Given the description of an element on the screen output the (x, y) to click on. 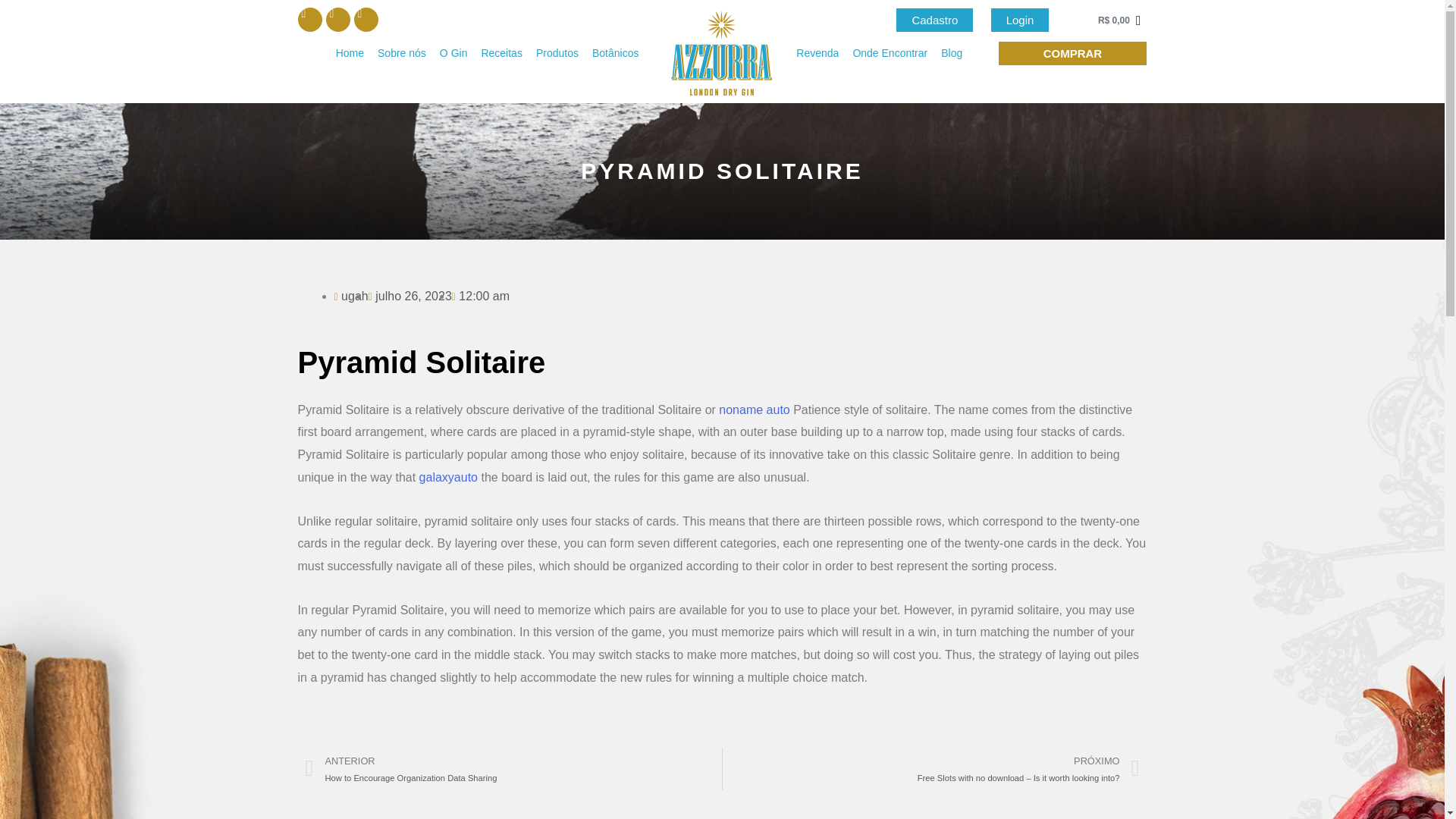
Produtos (556, 53)
Revenda (817, 53)
Onde Encontrar (889, 53)
Login (1020, 19)
COMPRAR (1072, 52)
Receitas (500, 53)
Cadastro (934, 19)
